Given the description of an element on the screen output the (x, y) to click on. 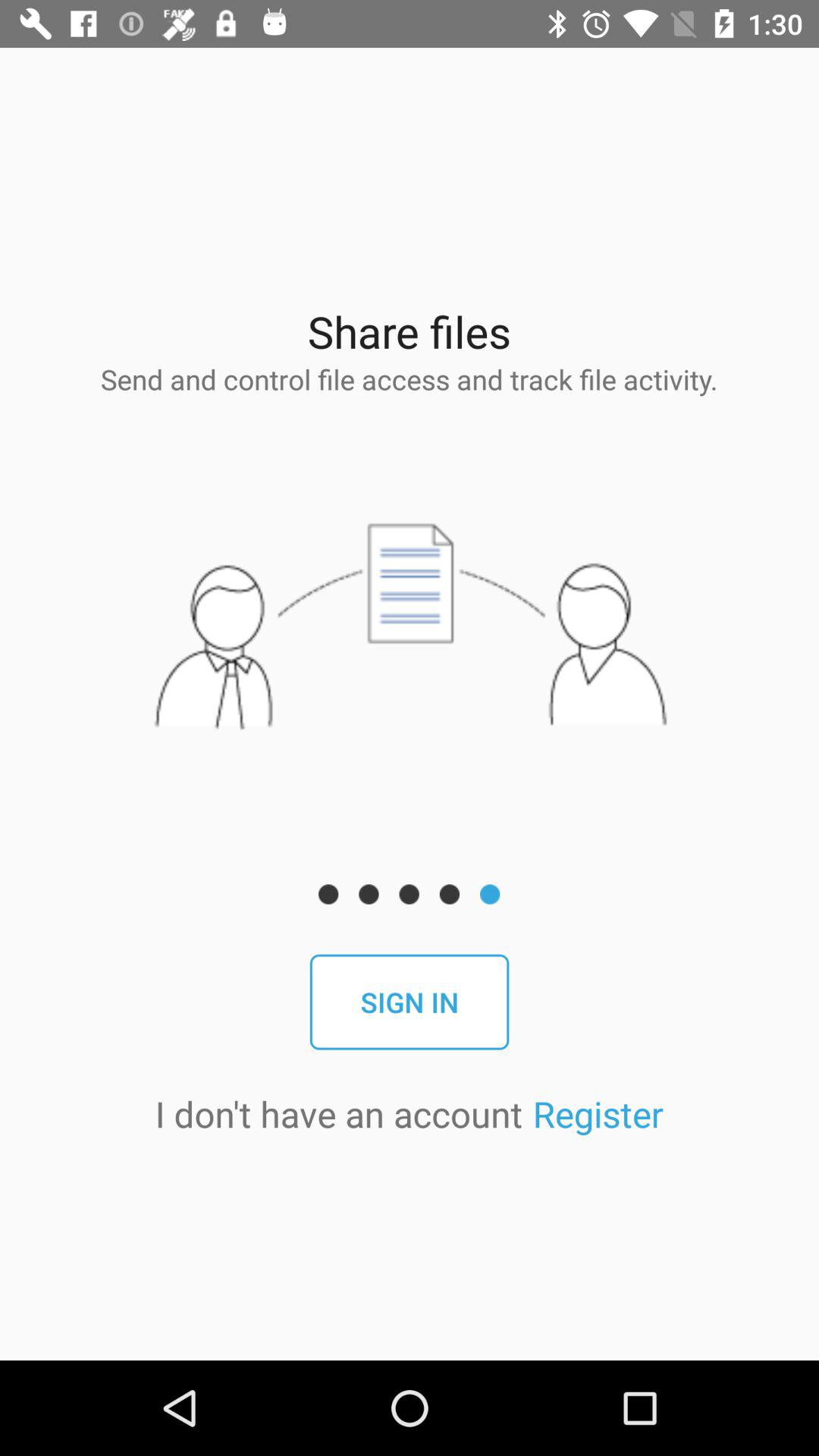
press the app next to i don t app (597, 1113)
